Given the description of an element on the screen output the (x, y) to click on. 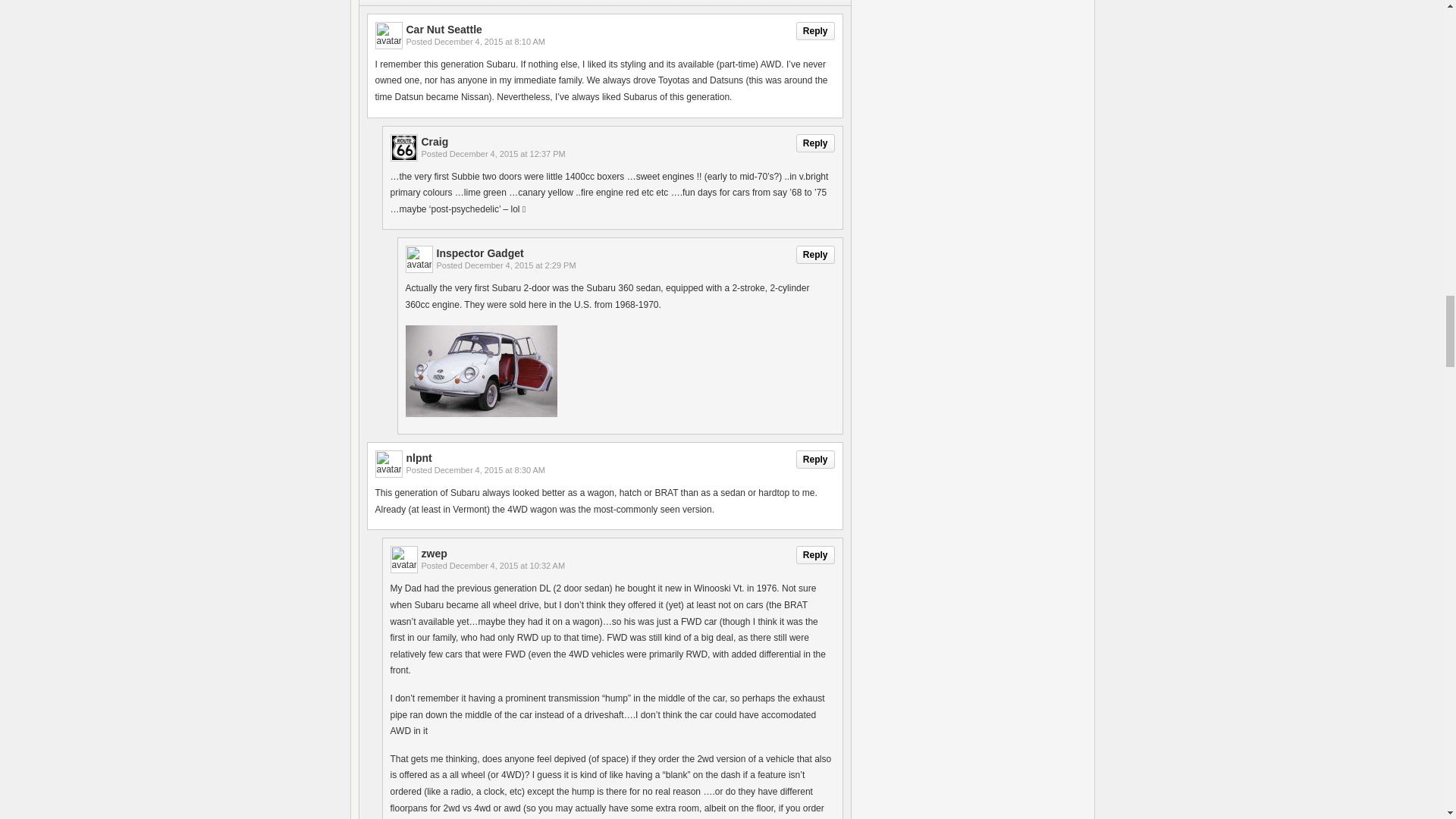
2015-12-04T14:29:38-08:00 (520, 265)
2015-12-04T12:37:19-08:00 (507, 153)
2015-12-04T08:30:11-08:00 (488, 470)
2015-12-04T10:32:05-08:00 (506, 565)
2015-12-04T08:10:30-08:00 (488, 40)
